Given the description of an element on the screen output the (x, y) to click on. 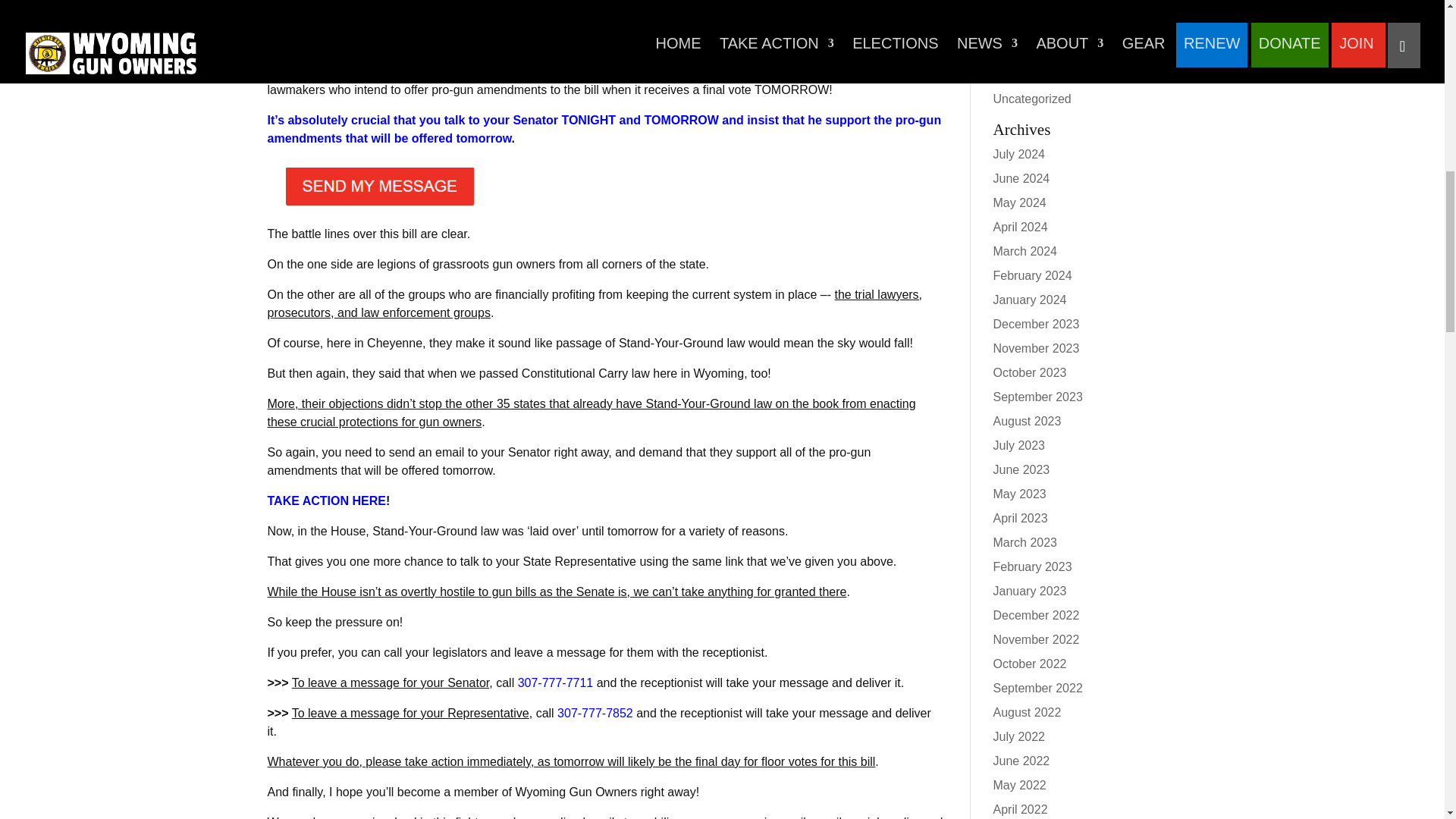
307-777-7711 (556, 682)
307-777-7852 (595, 712)
TAKE ACTION HERE (325, 500)
